Given the description of an element on the screen output the (x, y) to click on. 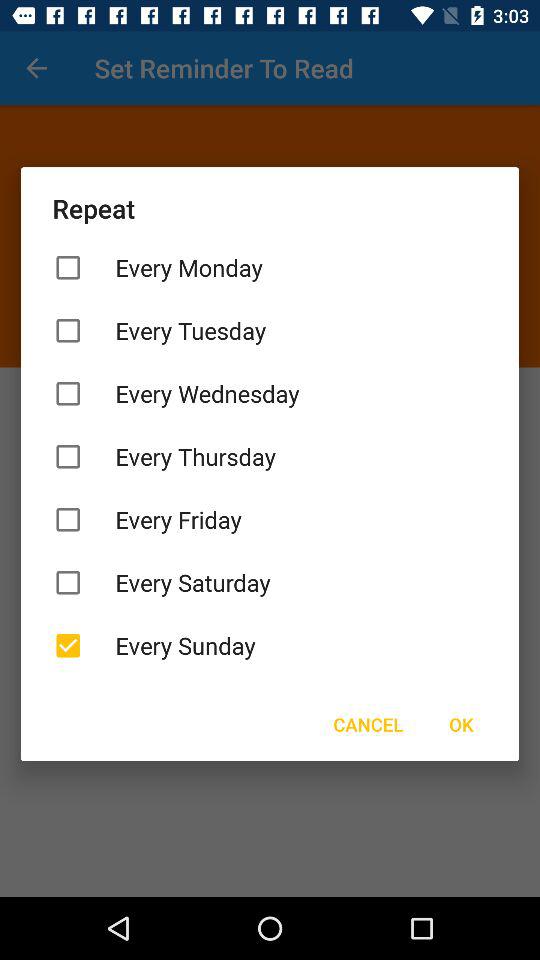
turn on item above the every sunday icon (270, 582)
